Given the description of an element on the screen output the (x, y) to click on. 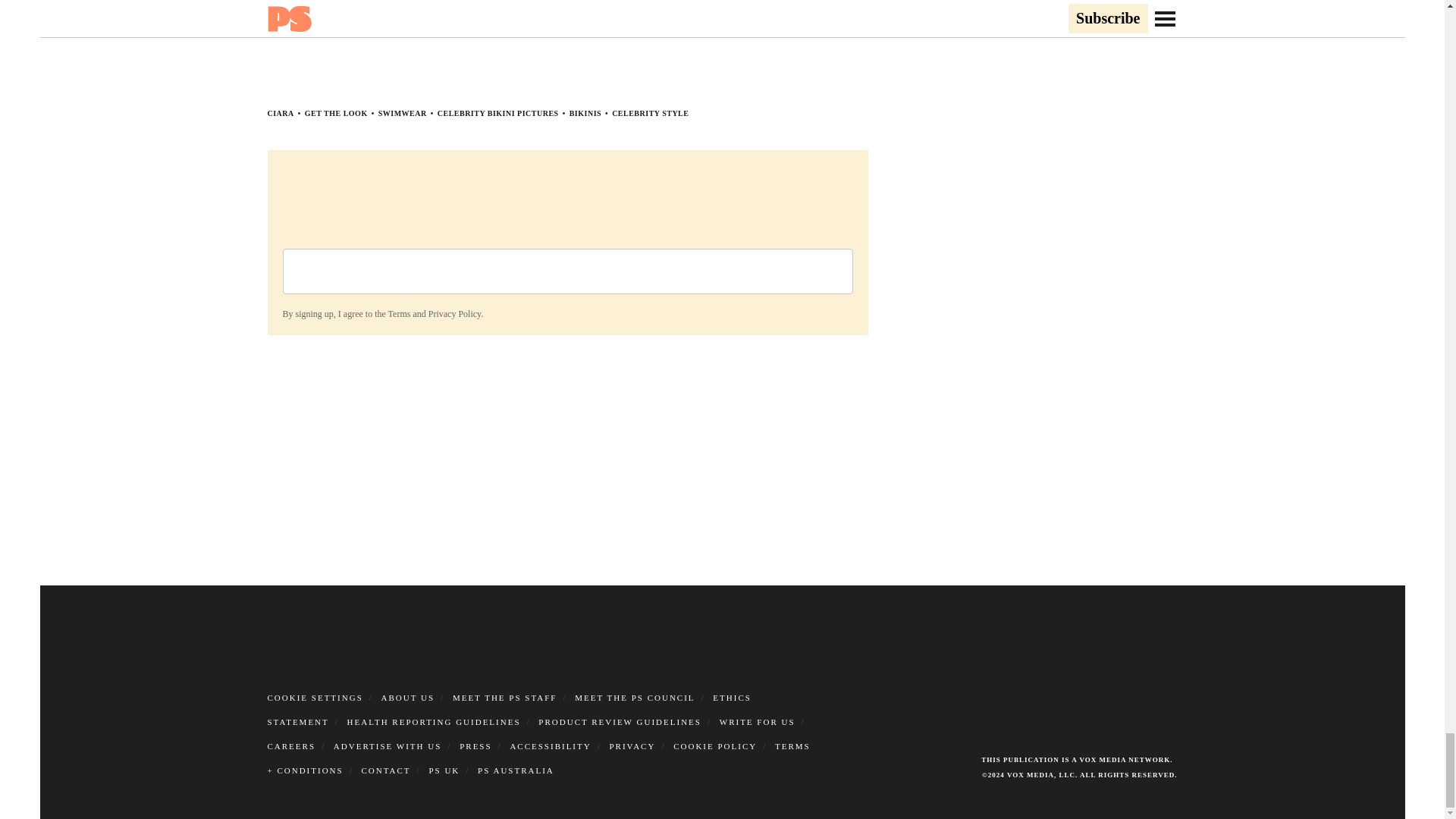
BIKINIS (585, 112)
Terms (399, 313)
SWIMWEAR (402, 112)
Privacy Policy. (455, 313)
CELEBRITY STYLE (649, 112)
CELEBRITY BIKINI PICTURES (498, 112)
CIARA (280, 112)
GET THE LOOK (336, 112)
